Given the description of an element on the screen output the (x, y) to click on. 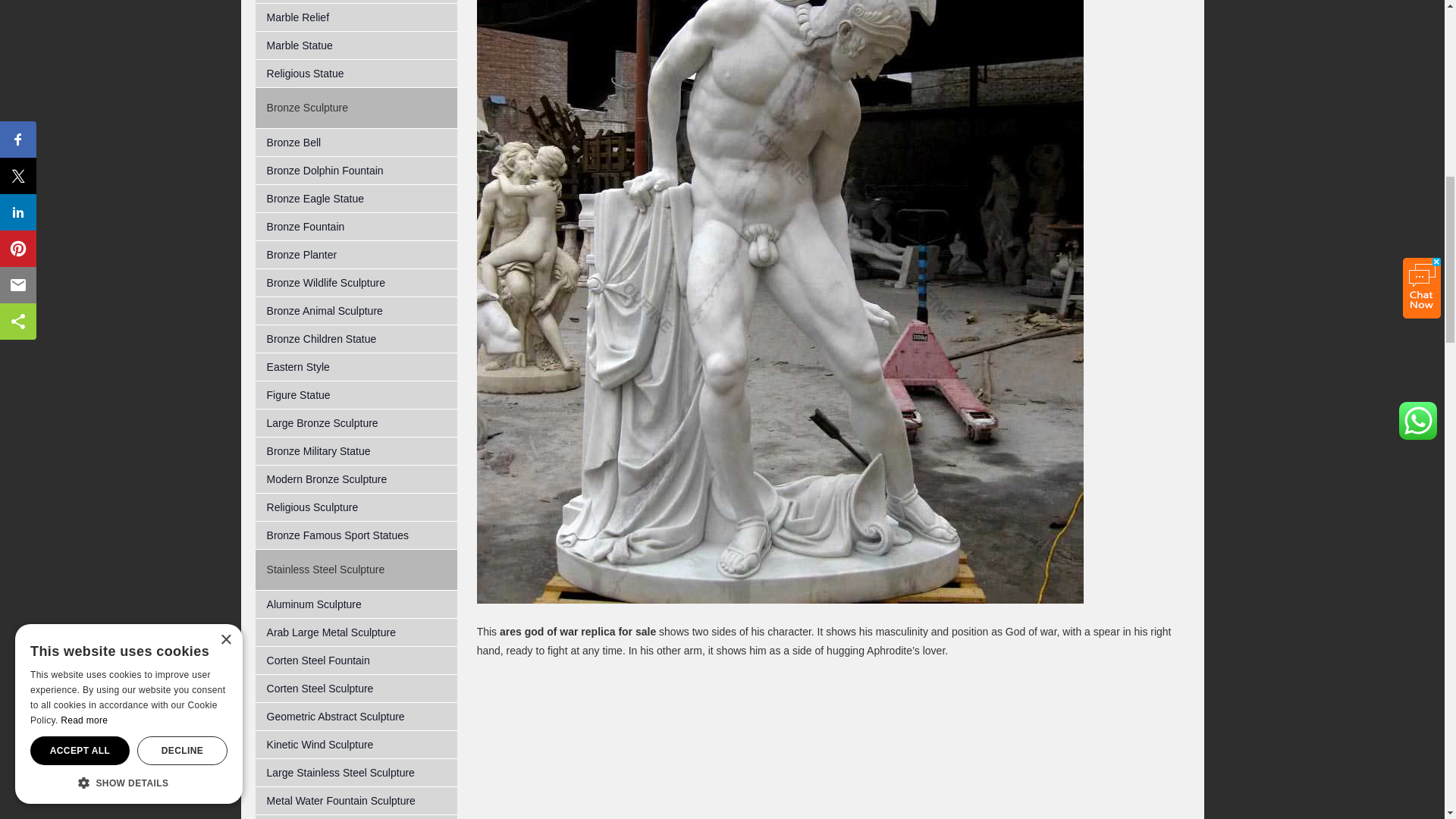
Marble Relief (357, 17)
Bronze Eagle Statue (357, 198)
Bronze Dolphin Fountain (357, 171)
Bronze Bell (357, 142)
Bronze Sculpture (306, 107)
Marble Statue (357, 45)
Religious Statue (357, 73)
